Given the description of an element on the screen output the (x, y) to click on. 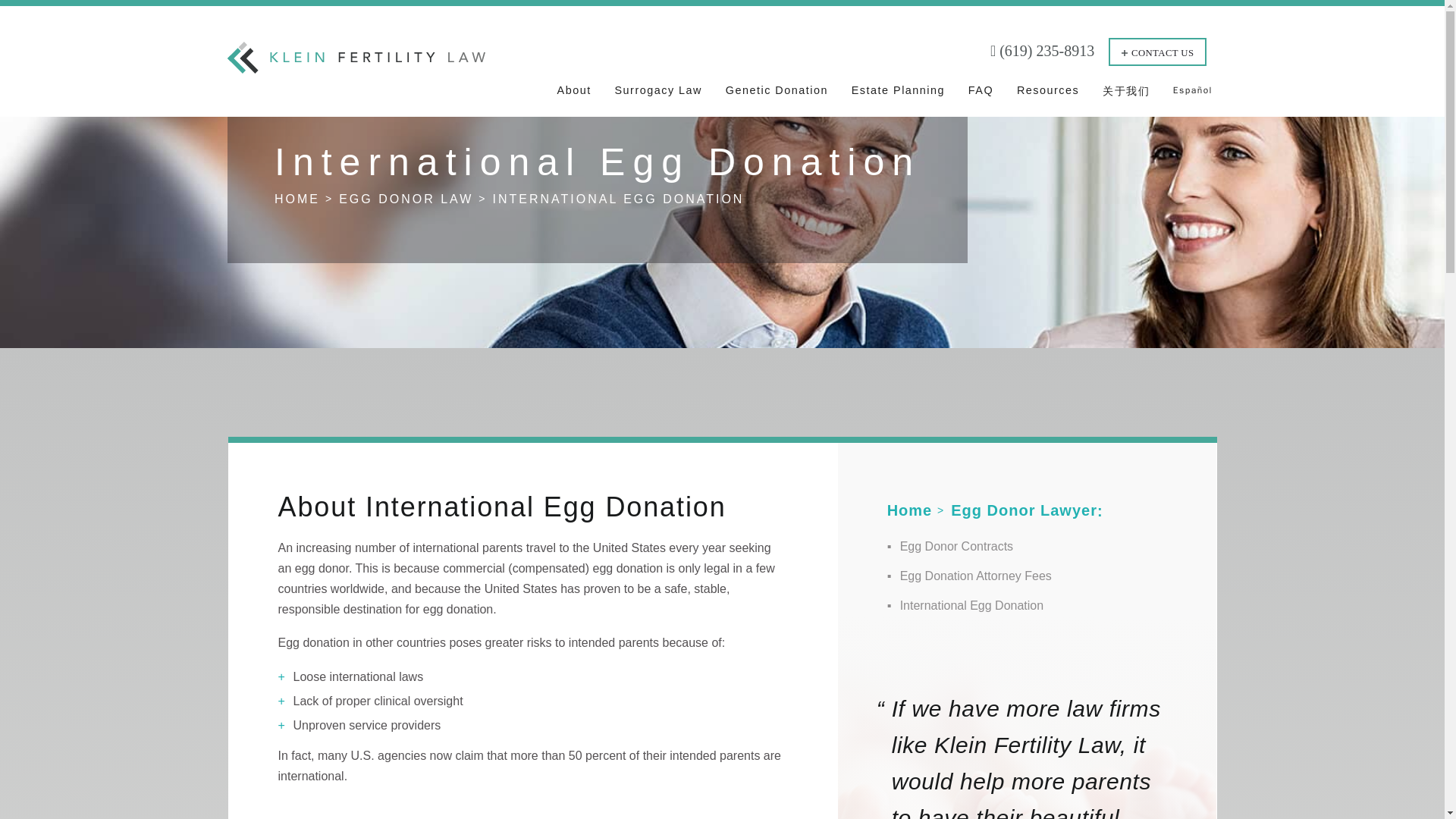
Estate Planning (897, 96)
CONTACT US (1157, 51)
Call us (1042, 50)
About (574, 96)
FAQ (980, 96)
Resources (1047, 96)
Contact Us (1157, 51)
Surrogacy Law (657, 96)
Genetic Donation (776, 96)
